Given the description of an element on the screen output the (x, y) to click on. 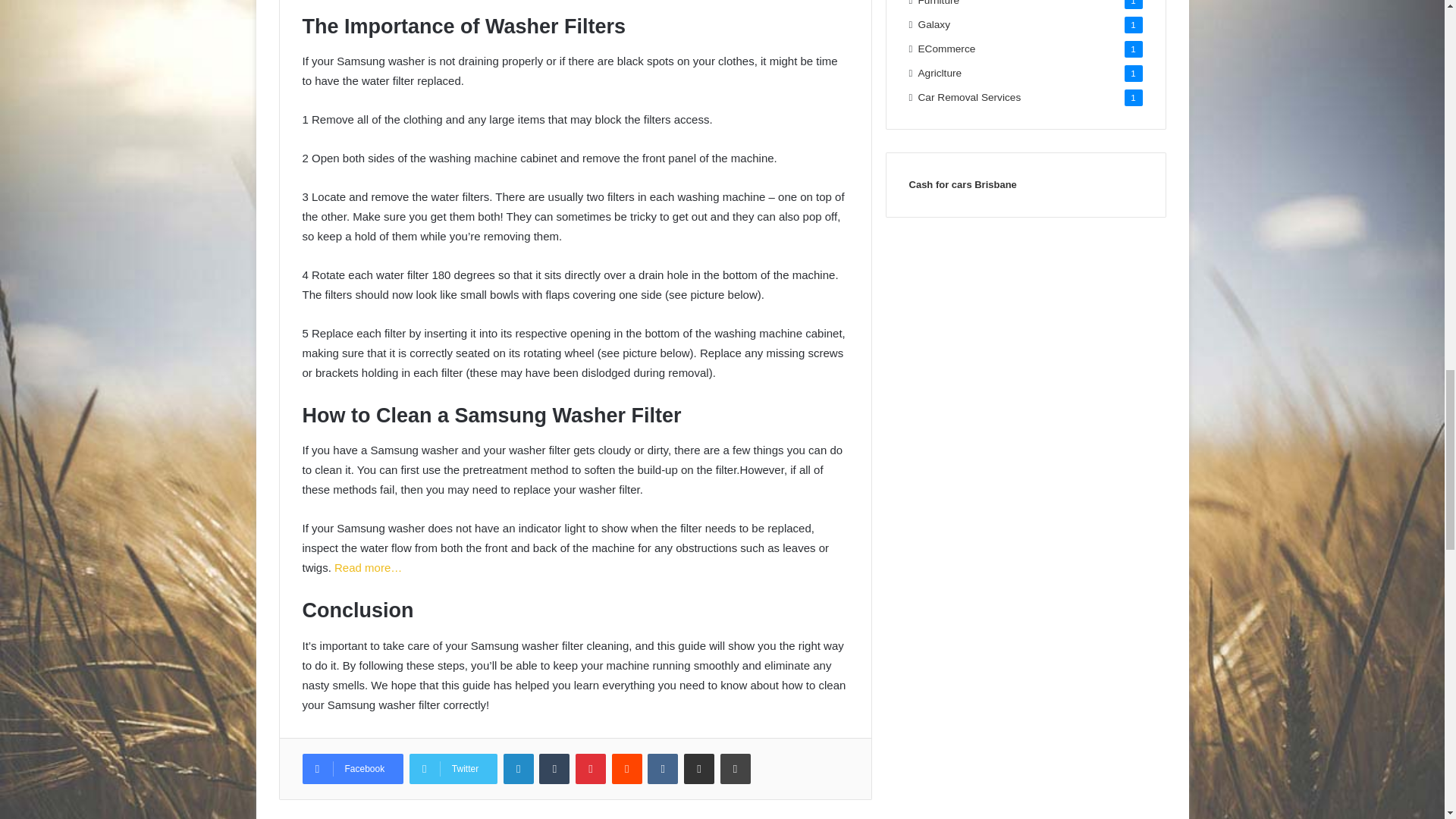
Share via Email (699, 768)
Pinterest (590, 768)
Print (735, 768)
Twitter (453, 768)
LinkedIn (518, 768)
LinkedIn (518, 768)
VKontakte (662, 768)
Twitter (453, 768)
Print (735, 768)
Tumblr (553, 768)
